Given the description of an element on the screen output the (x, y) to click on. 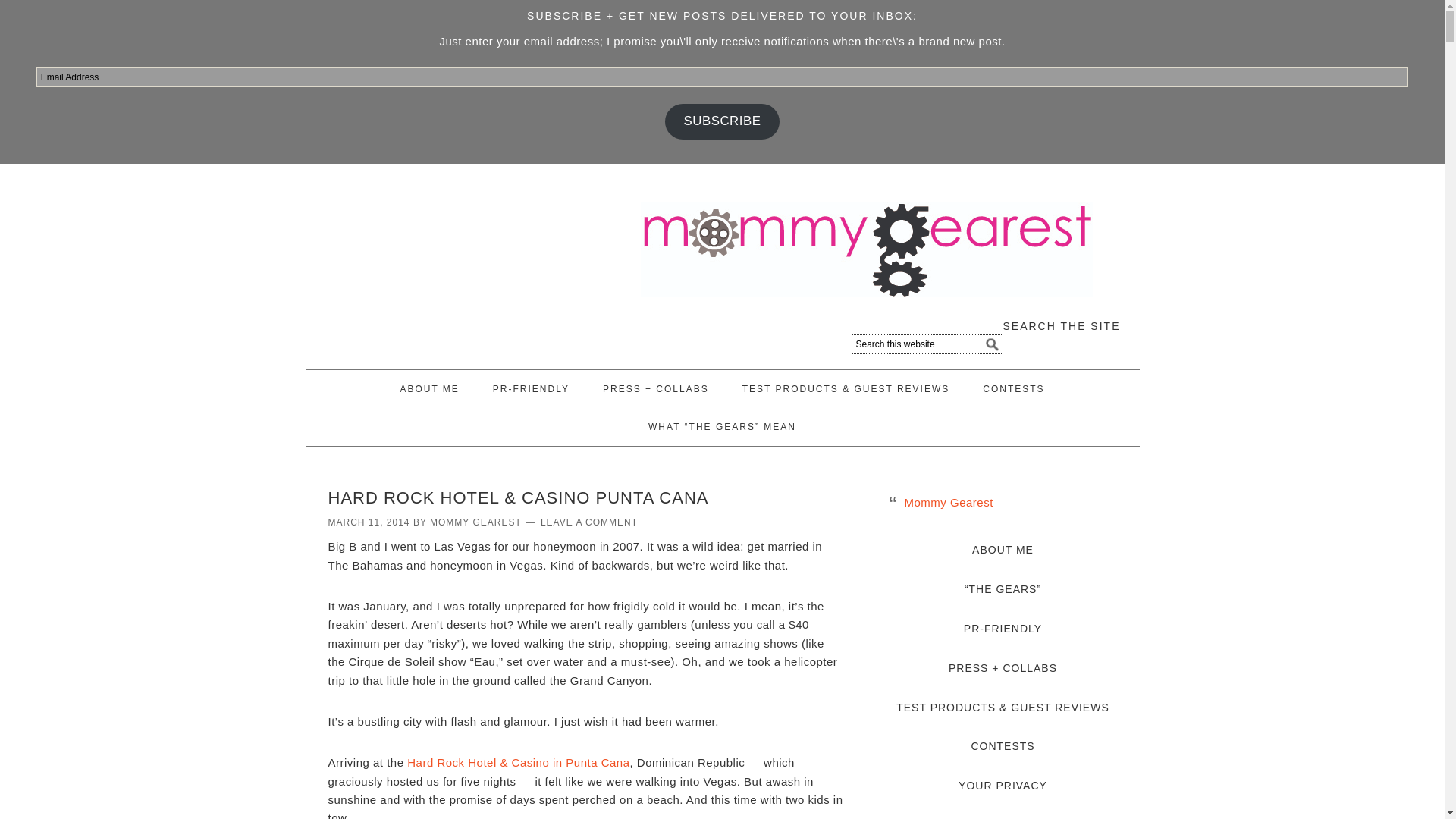
PR-FRIENDLY (531, 388)
ABOUT ME (429, 388)
CONTESTS (1013, 388)
SUBSCRIBE (721, 121)
LEAVE A COMMENT (588, 521)
MOMMY GEAREST (475, 521)
